Given the description of an element on the screen output the (x, y) to click on. 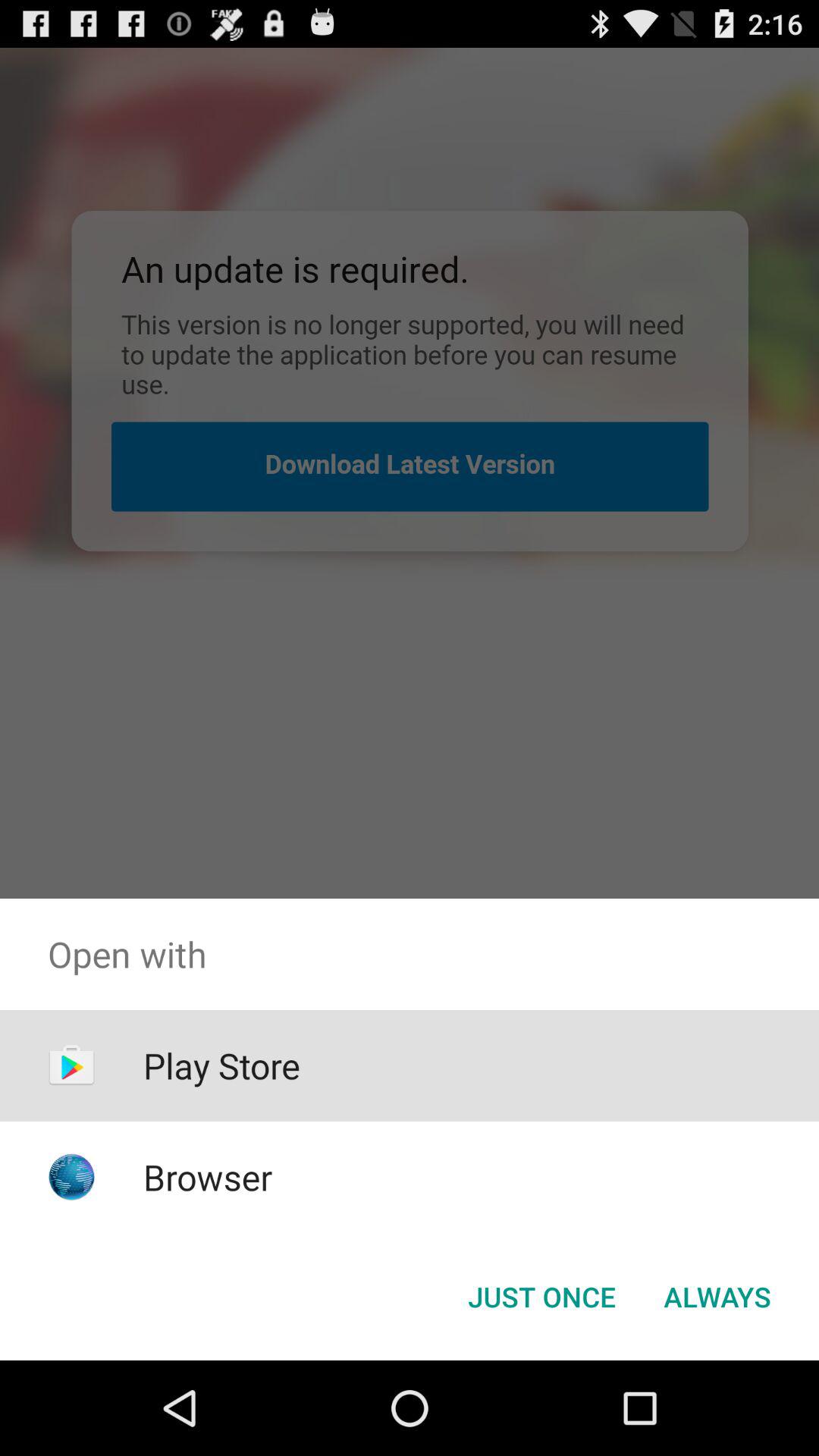
tap the app below play store item (207, 1176)
